Given the description of an element on the screen output the (x, y) to click on. 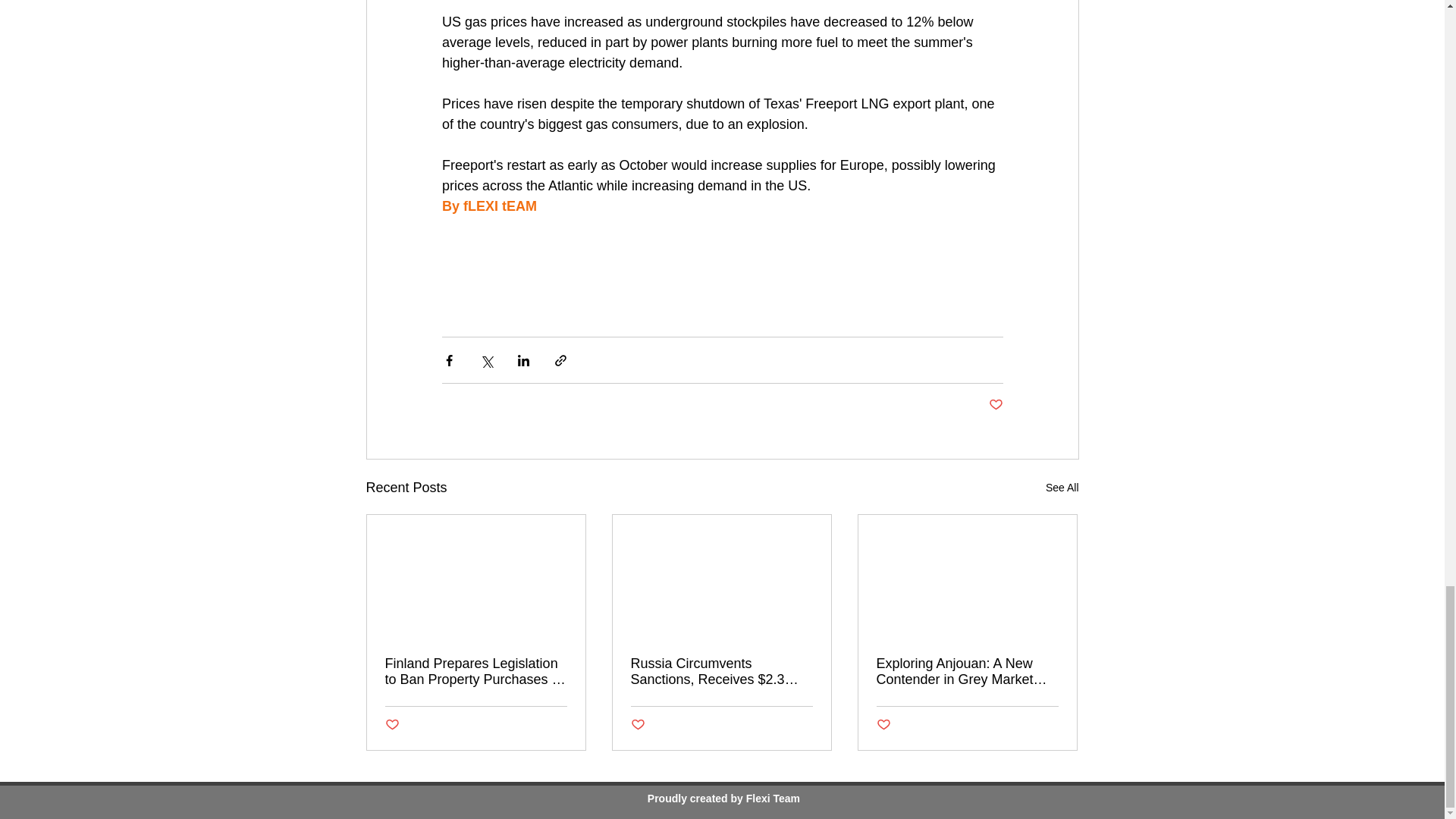
Exploring Anjouan: A New Contender in Grey Market Licensing (967, 671)
Post not marked as liked (883, 725)
Post not marked as liked (637, 725)
Post not marked as liked (391, 725)
Post not marked as liked (995, 405)
See All (1061, 487)
